Given the description of an element on the screen output the (x, y) to click on. 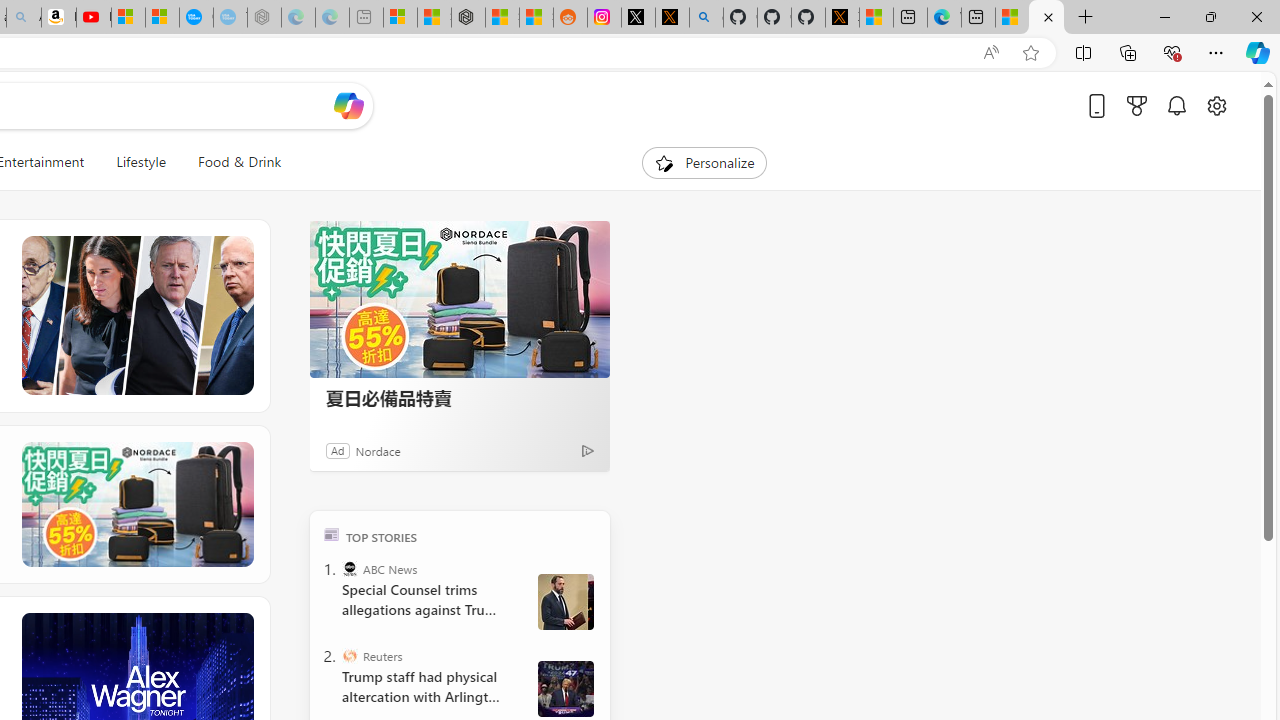
Food & Drink (239, 162)
ABC News (349, 568)
Microsoft rewards (1137, 105)
Log in to X / X (638, 17)
X Privacy Policy (841, 17)
Nordace - Duffels (468, 17)
Welcome to Microsoft Edge (944, 17)
Lifestyle (141, 162)
